Given the description of an element on the screen output the (x, y) to click on. 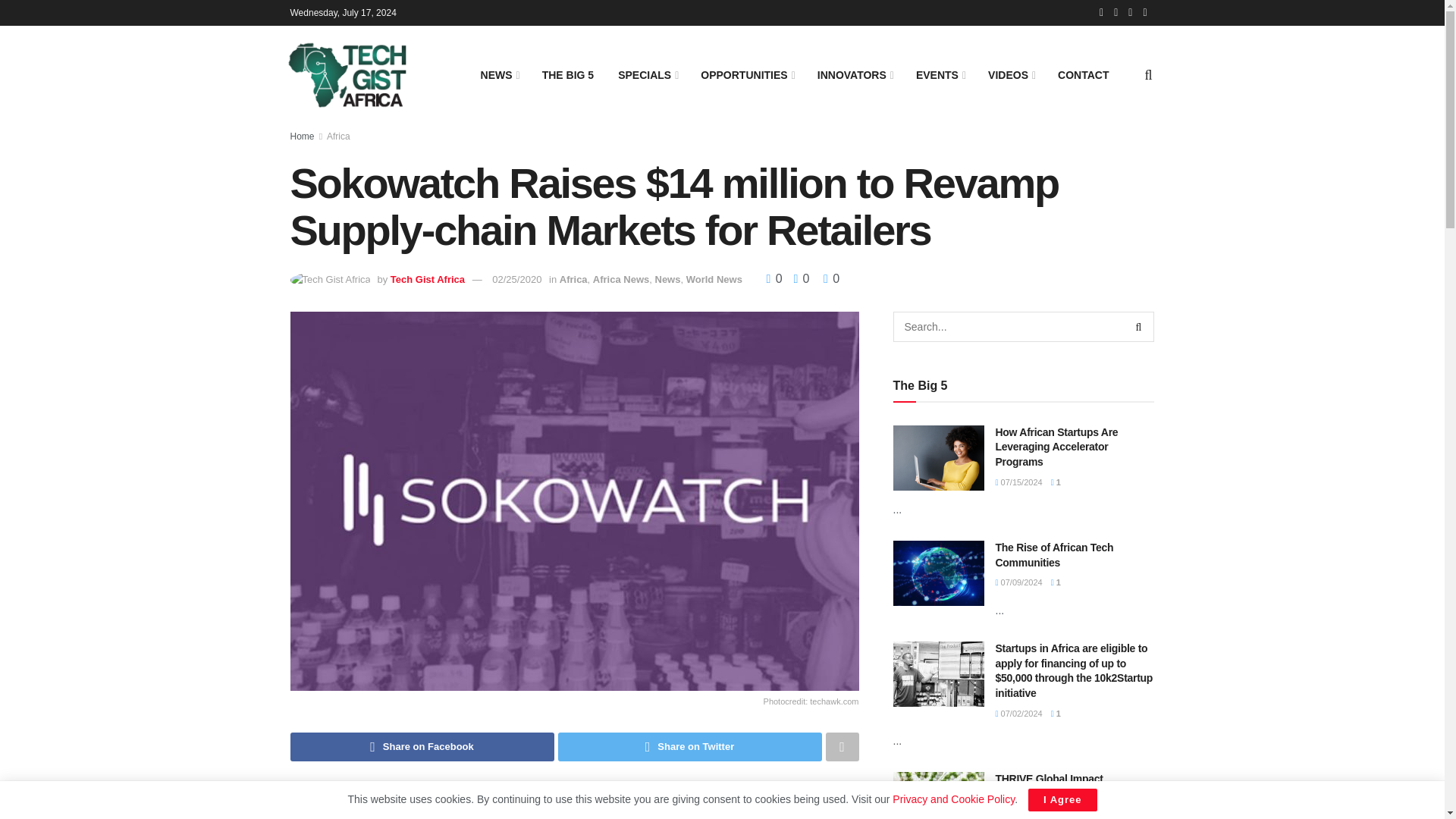
OPPORTUNITIES (746, 75)
VIDEOS (1010, 75)
CONTACT (1083, 75)
SPECIALS (646, 75)
INNOVATORS (854, 75)
EVENTS (939, 75)
THE BIG 5 (567, 75)
NEWS (498, 75)
